Given the description of an element on the screen output the (x, y) to click on. 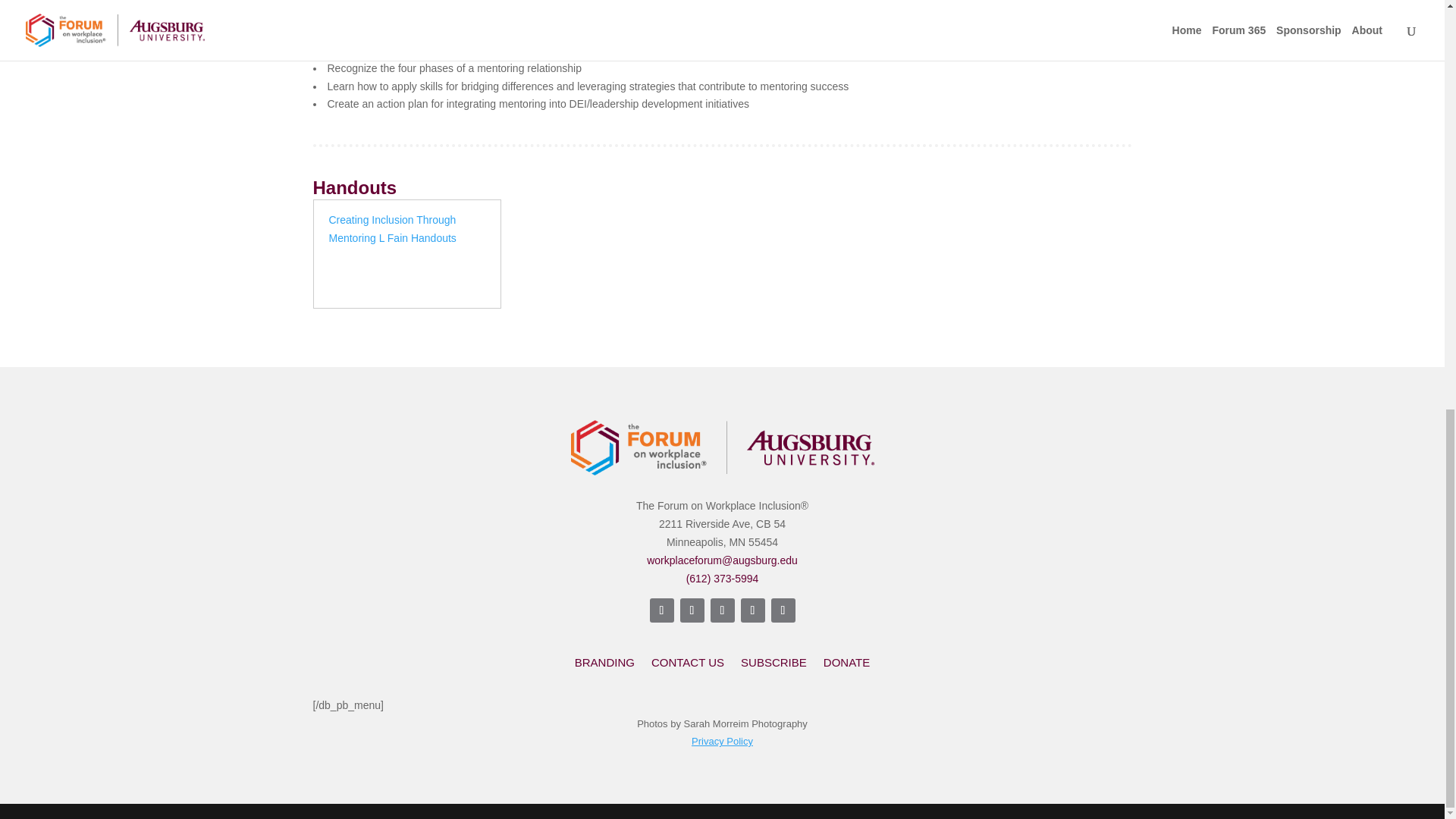
Follow on X (721, 610)
BRANDING (604, 665)
CONTACT US (686, 665)
Follow on Instagram (691, 610)
Follow on LinkedIn (751, 610)
Follow on Facebook (660, 610)
SUBSCRIBE (773, 665)
Follow on Youtube (782, 610)
Download (379, 277)
